Given the description of an element on the screen output the (x, y) to click on. 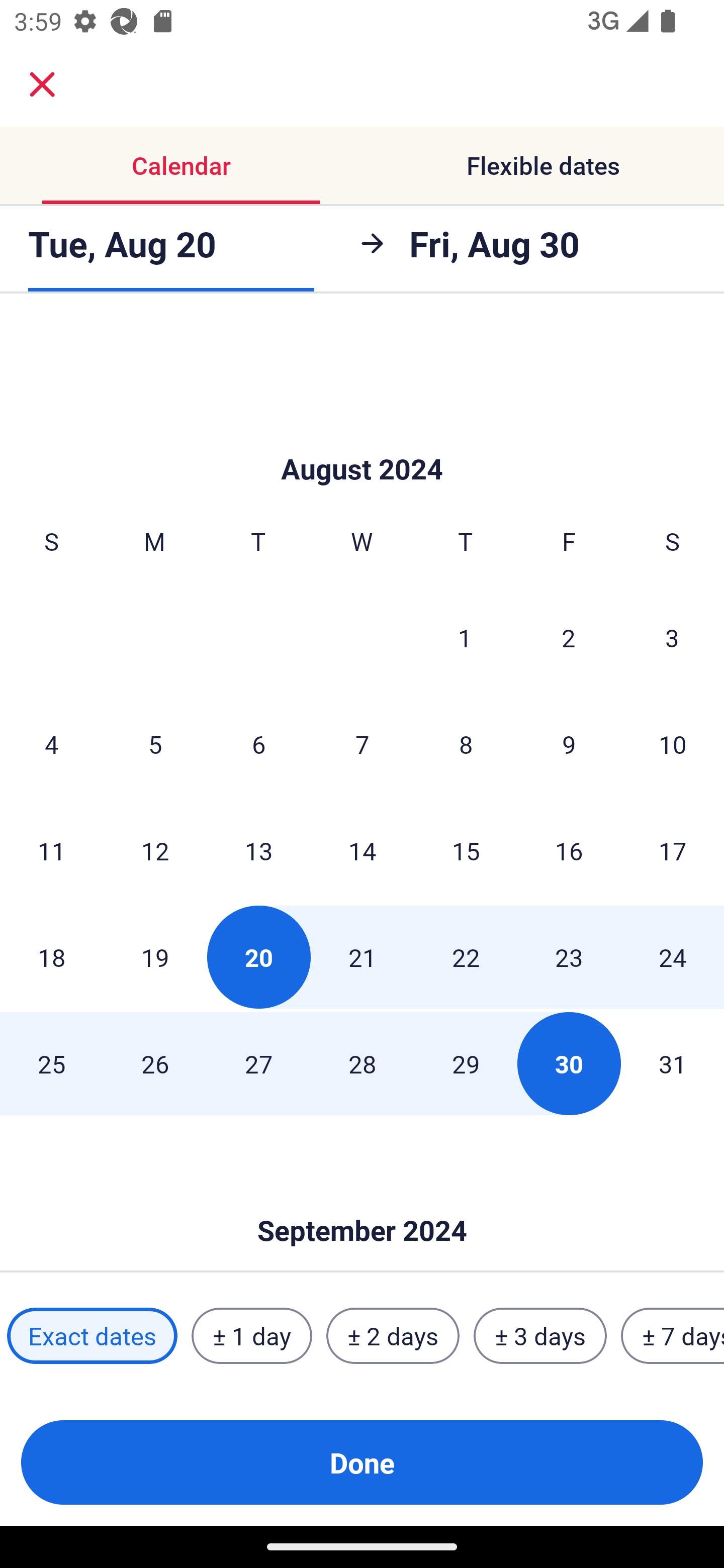
close. (42, 84)
Flexible dates (542, 164)
Skip to Done (362, 438)
1 Thursday, August 1, 2024 (464, 637)
2 Friday, August 2, 2024 (568, 637)
3 Saturday, August 3, 2024 (672, 637)
4 Sunday, August 4, 2024 (51, 743)
5 Monday, August 5, 2024 (155, 743)
6 Tuesday, August 6, 2024 (258, 743)
7 Wednesday, August 7, 2024 (362, 743)
8 Thursday, August 8, 2024 (465, 743)
9 Friday, August 9, 2024 (569, 743)
10 Saturday, August 10, 2024 (672, 743)
11 Sunday, August 11, 2024 (51, 850)
12 Monday, August 12, 2024 (155, 850)
13 Tuesday, August 13, 2024 (258, 850)
14 Wednesday, August 14, 2024 (362, 850)
15 Thursday, August 15, 2024 (465, 850)
16 Friday, August 16, 2024 (569, 850)
17 Saturday, August 17, 2024 (672, 850)
18 Sunday, August 18, 2024 (51, 957)
19 Monday, August 19, 2024 (155, 957)
31 Saturday, August 31, 2024 (672, 1063)
Skip to Done (362, 1200)
Exact dates (92, 1335)
± 1 day (251, 1335)
± 2 days (392, 1335)
± 3 days (539, 1335)
± 7 days (672, 1335)
Done (361, 1462)
